Given the description of an element on the screen output the (x, y) to click on. 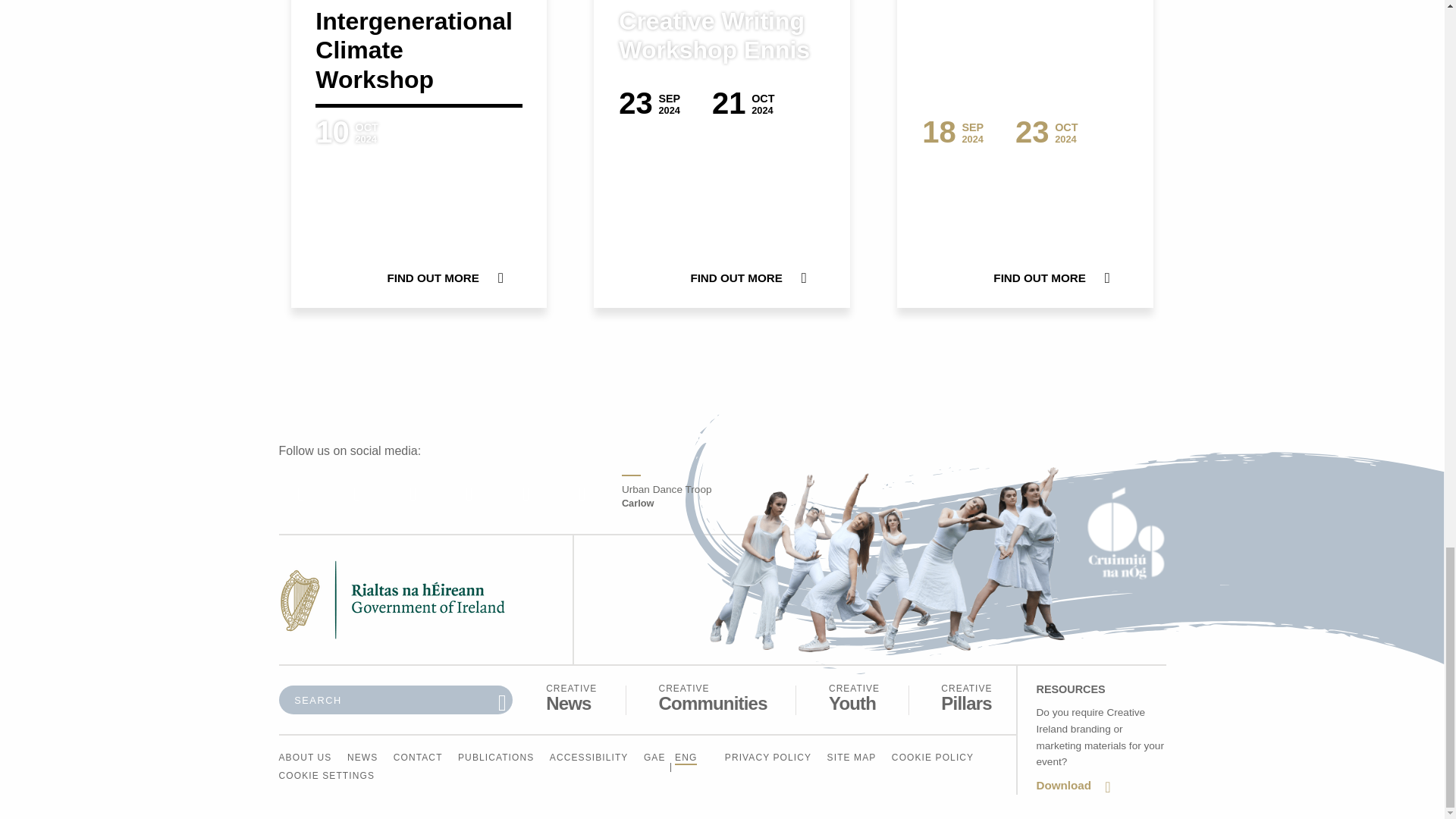
English (853, 698)
Soundcloud (686, 758)
Youtube (712, 698)
Instagram (525, 493)
Soundcloud (356, 493)
Twitter (468, 493)
Facebook (571, 698)
